Given the description of an element on the screen output the (x, y) to click on. 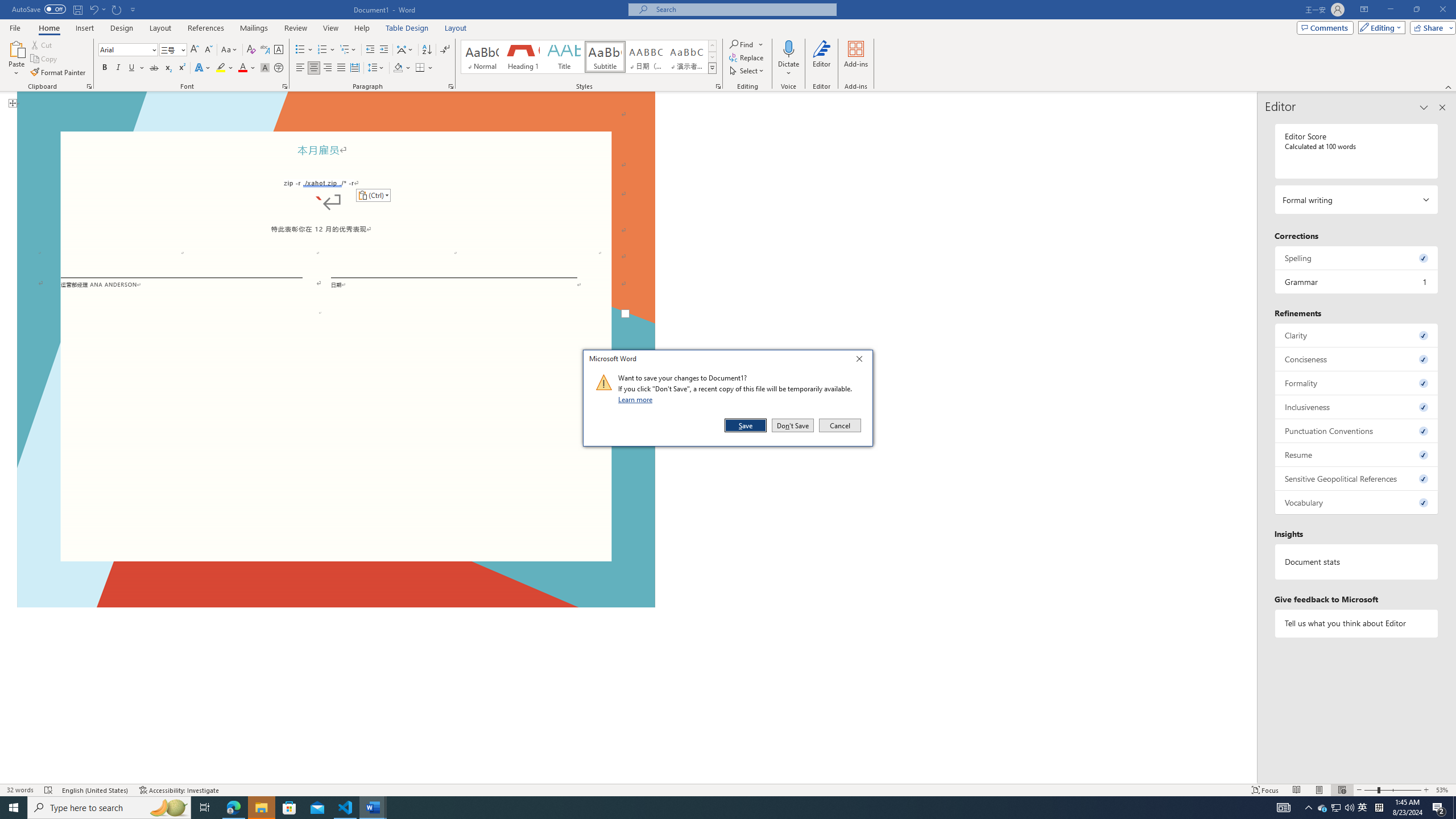
Paste (16, 48)
Bold (104, 67)
Quick Access Toolbar (74, 9)
Tell us what you think about Editor (1356, 623)
Layout (455, 28)
Underline (136, 67)
Paragraph... (450, 85)
Zoom In (1426, 790)
Notification Chevron (1308, 807)
Center (313, 67)
Text Highlight Color (224, 67)
Close (1335, 807)
Minimize (862, 360)
